Given the description of an element on the screen output the (x, y) to click on. 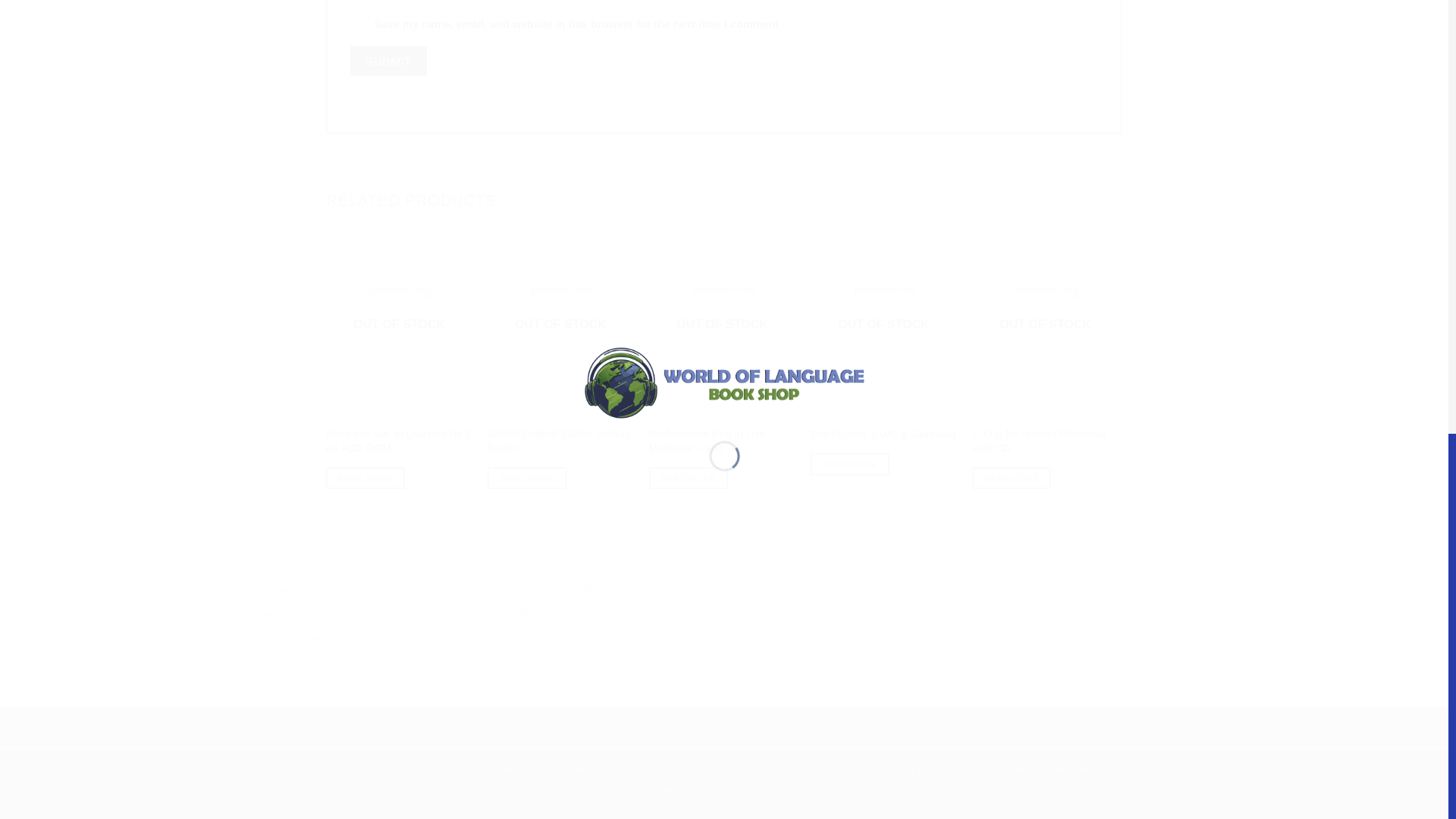
READ MORE (365, 477)
Submit (388, 60)
Global English Starter Activity Book C (560, 440)
yes (357, 22)
Submit (388, 60)
READ MORE (688, 477)
READ MORE (526, 477)
